Given the description of an element on the screen output the (x, y) to click on. 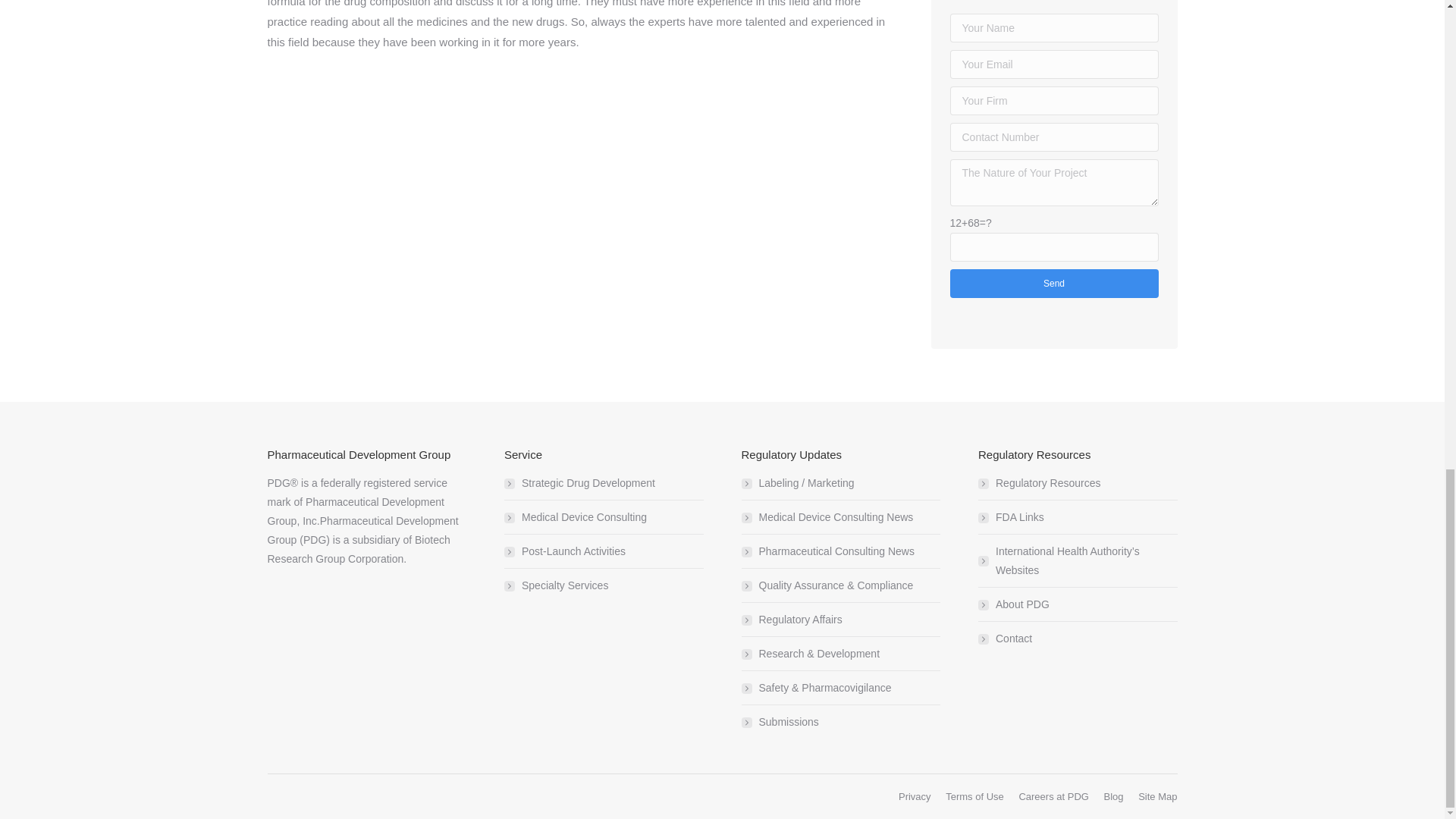
Send (1053, 283)
